Given the description of an element on the screen output the (x, y) to click on. 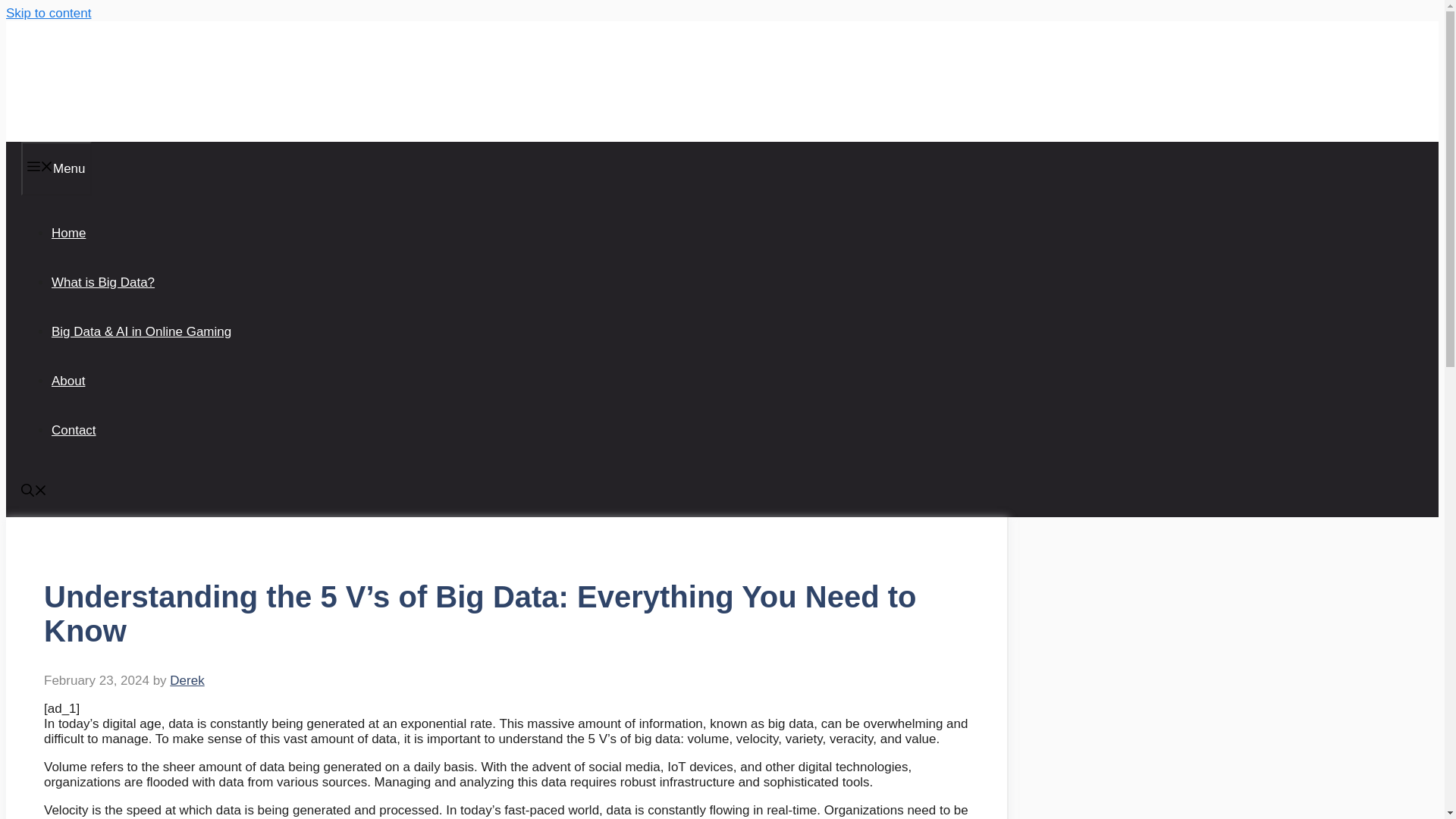
Skip to content (47, 12)
Home (67, 233)
Derek (186, 680)
Skip to content (47, 12)
What is Big Data? (102, 282)
Menu (56, 168)
About (67, 380)
Contact (73, 430)
View all posts by Derek (186, 680)
Byte-project.eu (99, 80)
